Given the description of an element on the screen output the (x, y) to click on. 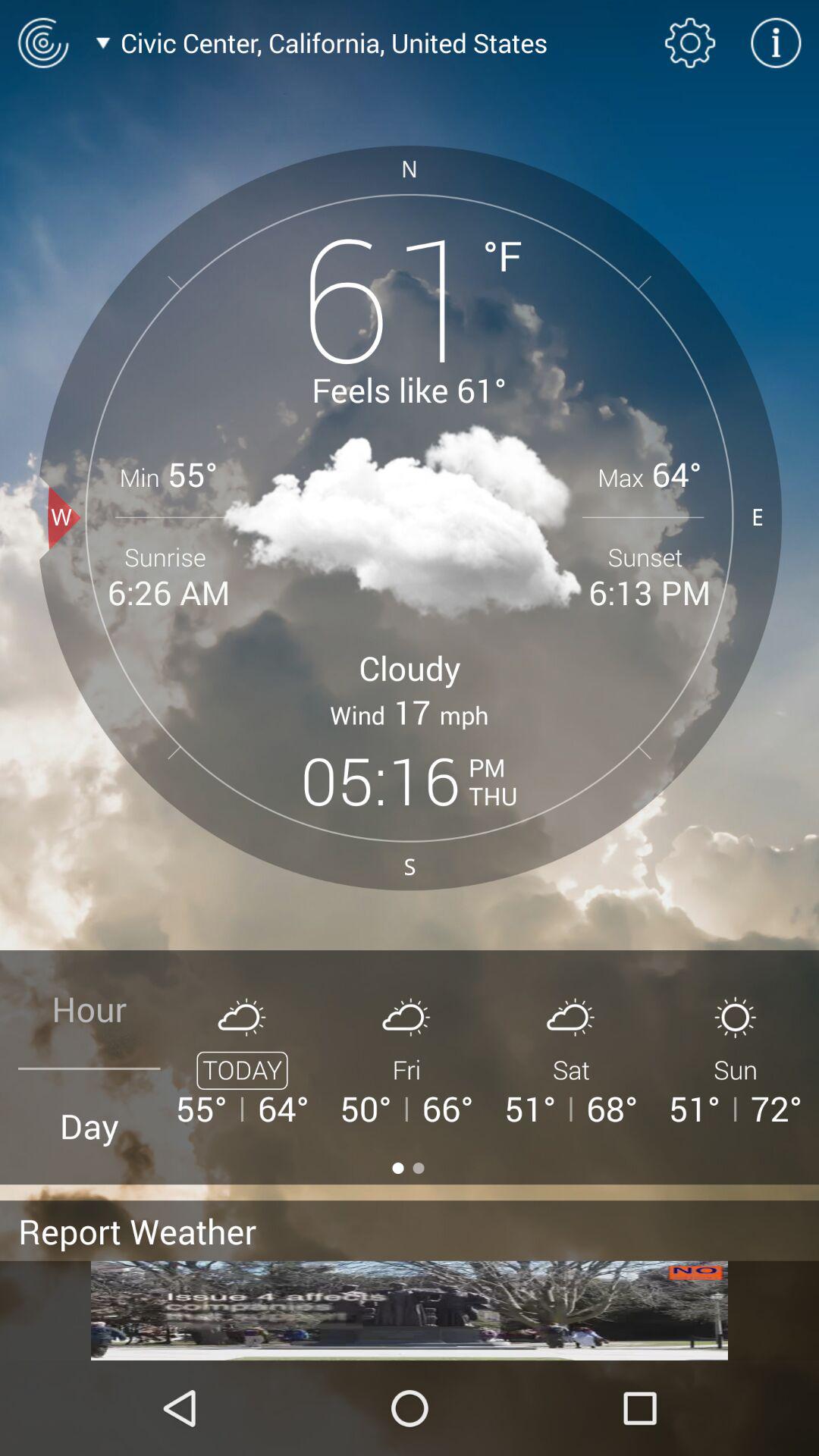
location (42, 42)
